Given the description of an element on the screen output the (x, y) to click on. 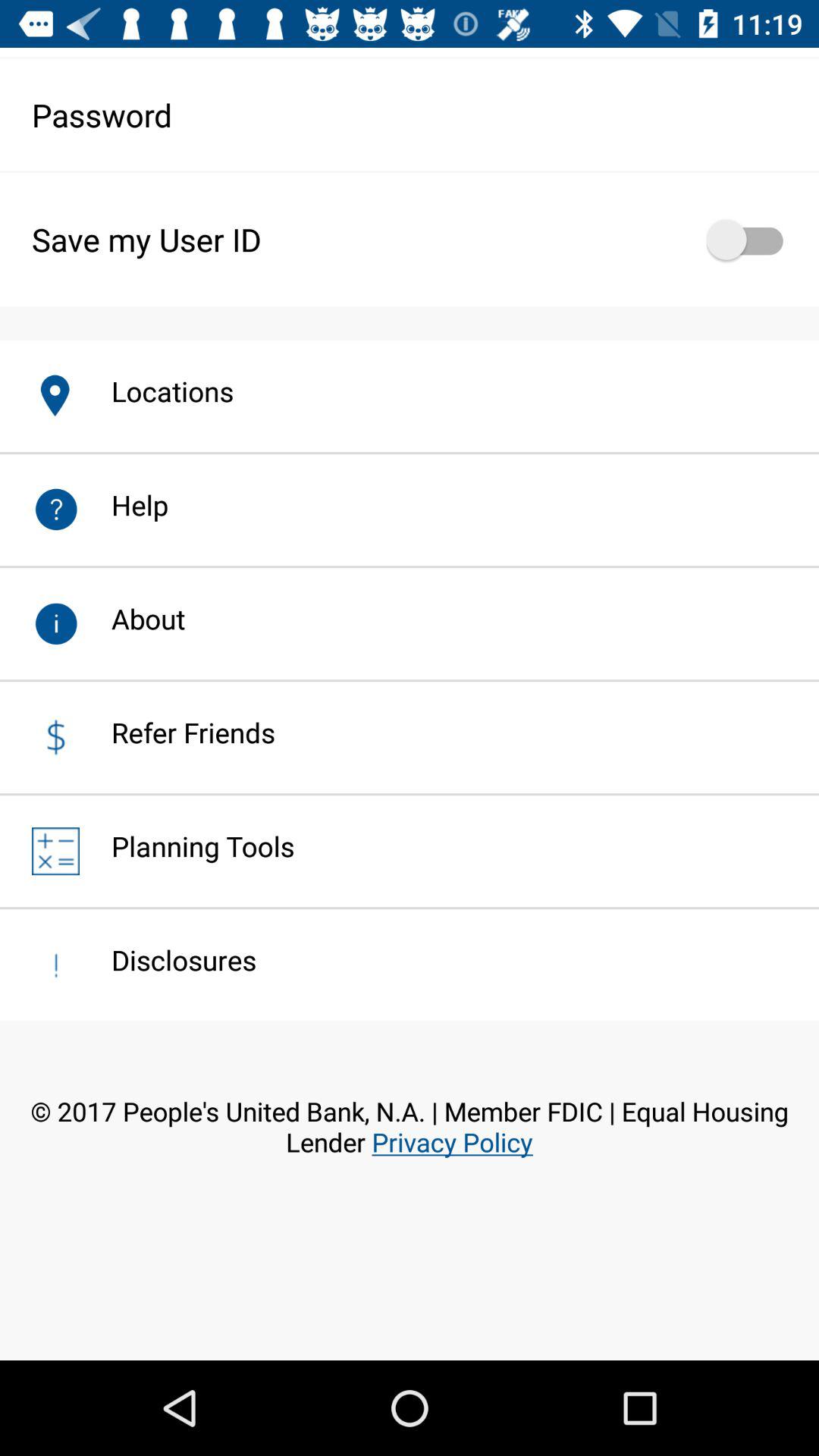
select the disclosures (167, 959)
